Given the description of an element on the screen output the (x, y) to click on. 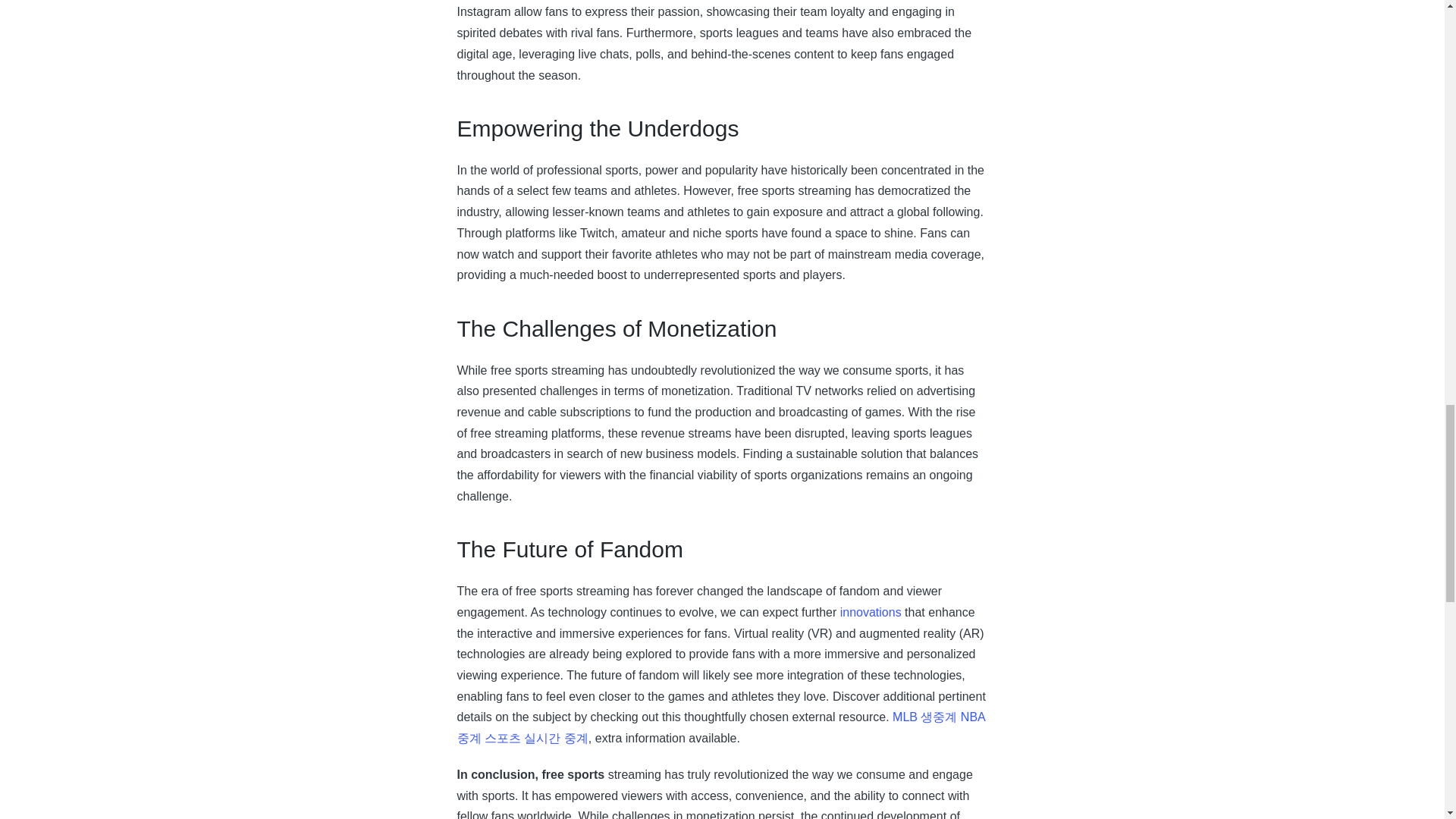
innovations (870, 612)
